Given the description of an element on the screen output the (x, y) to click on. 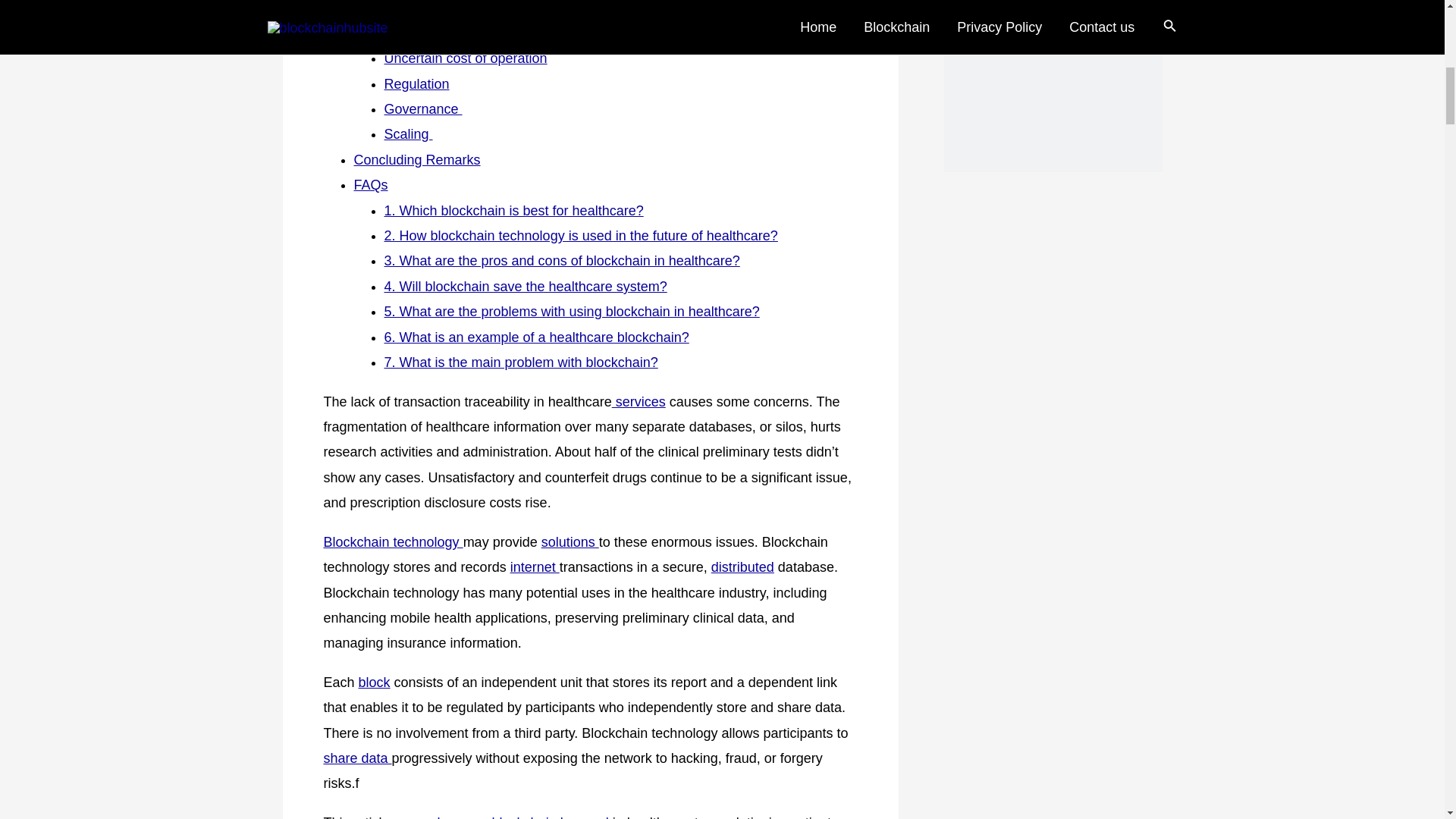
Regulation (416, 83)
Adoption and incentives for participation (505, 32)
Uncertain cost of operation (465, 58)
Governance  (422, 109)
